Given the description of an element on the screen output the (x, y) to click on. 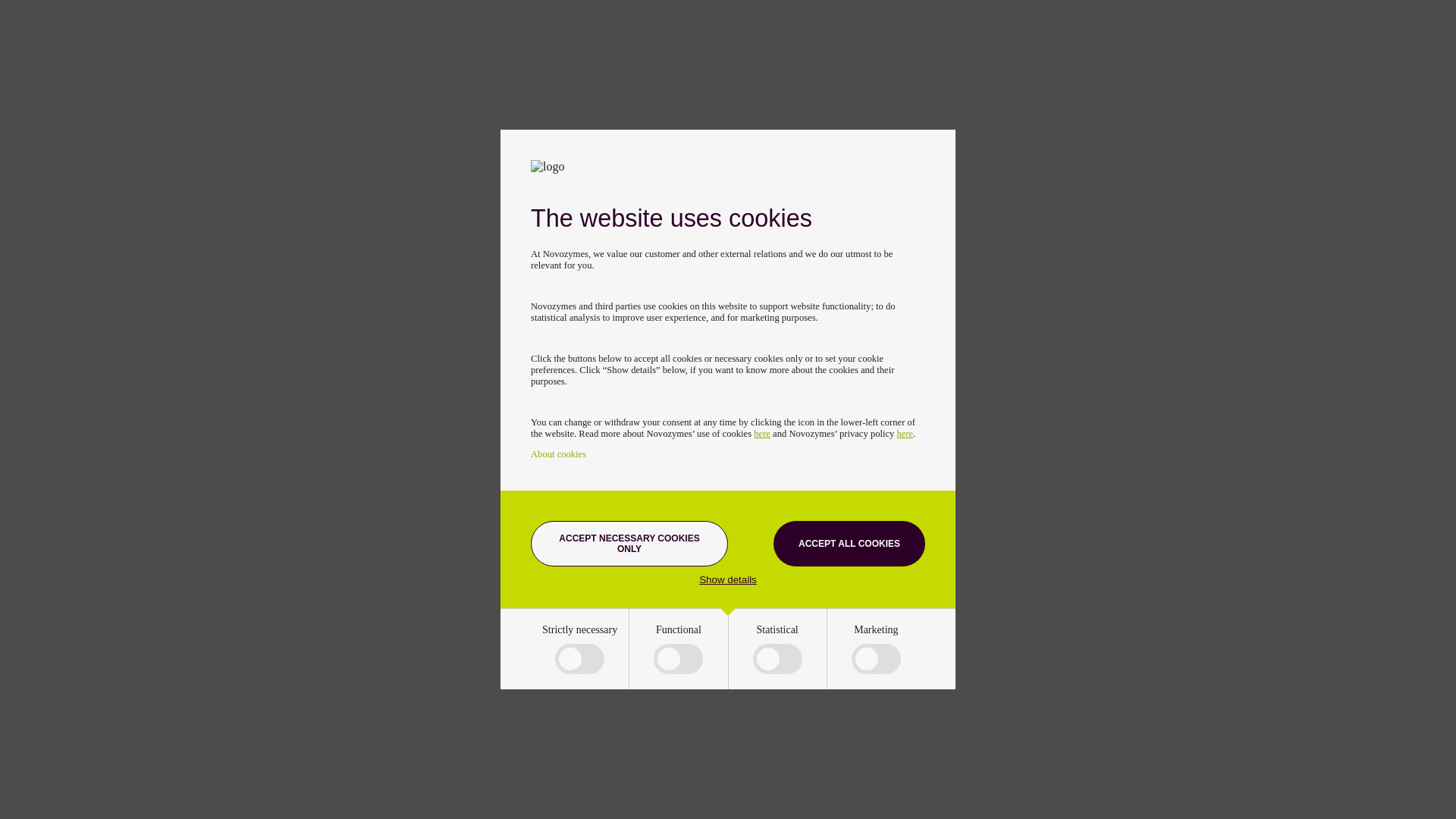
here (762, 433)
Show details (727, 579)
here (905, 433)
About cookies (558, 453)
ACCEPT ALL COOKIES (848, 543)
ACCEPT NECESSARY COOKIES ONLY (629, 543)
